Given the description of an element on the screen output the (x, y) to click on. 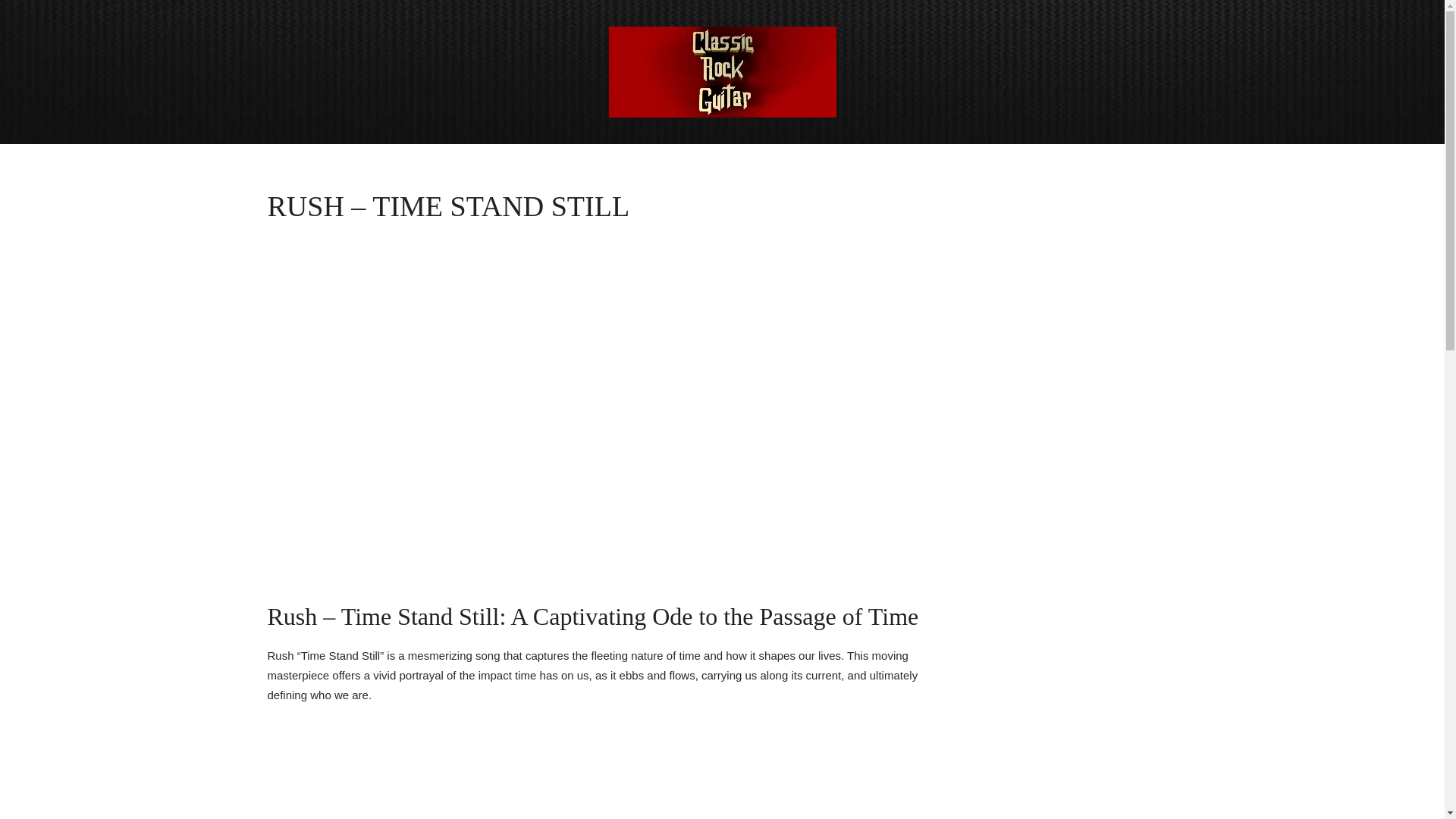
Advertisement (592, 767)
Advertisement (1063, 283)
